Given the description of an element on the screen output the (x, y) to click on. 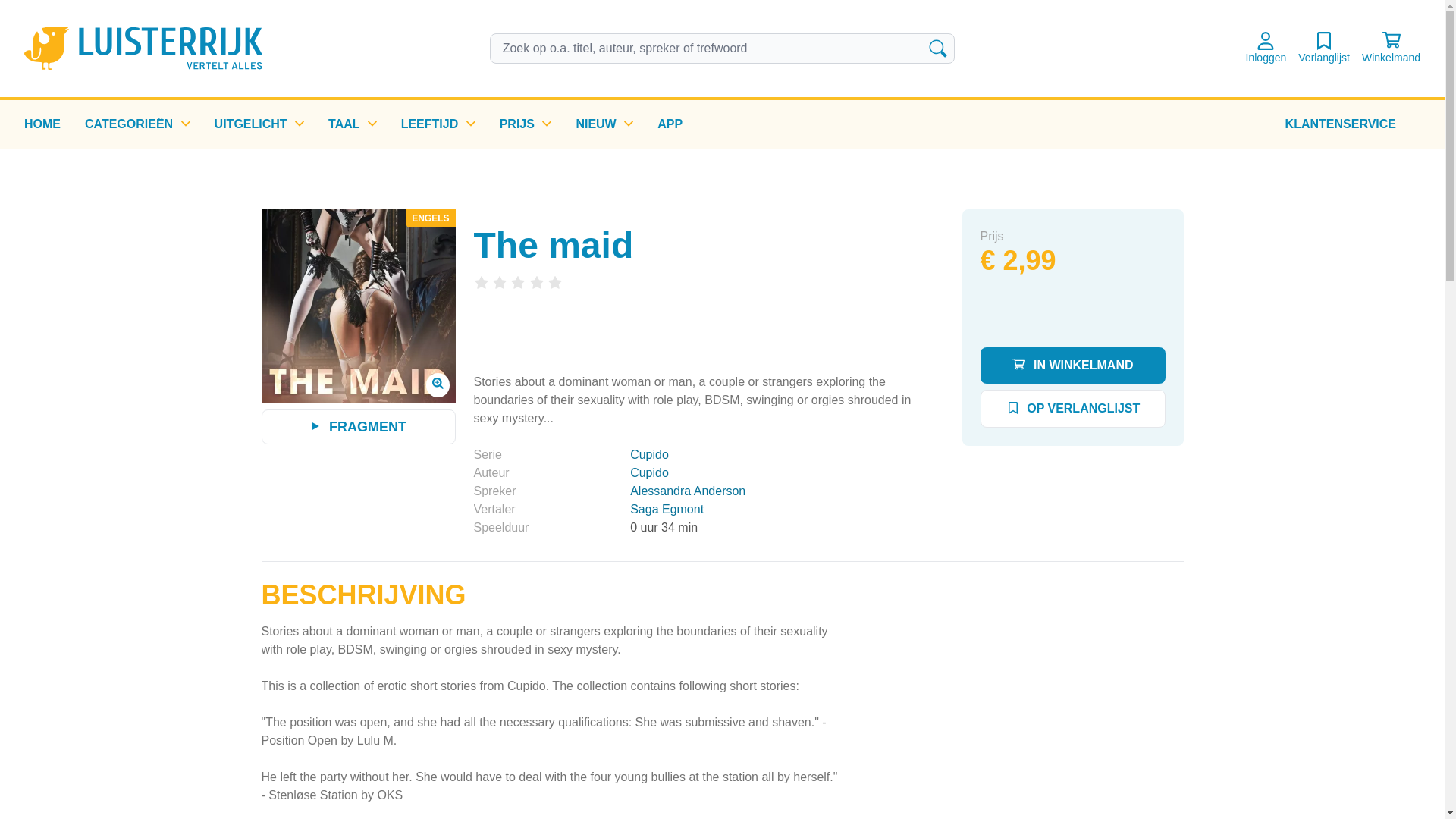
Winkelmand (1391, 48)
Inloggen (1266, 48)
Zoek (937, 48)
HOME (42, 124)
Verlanglijst (1323, 48)
Luisterrijk - vertelt alles (143, 48)
